Given the description of an element on the screen output the (x, y) to click on. 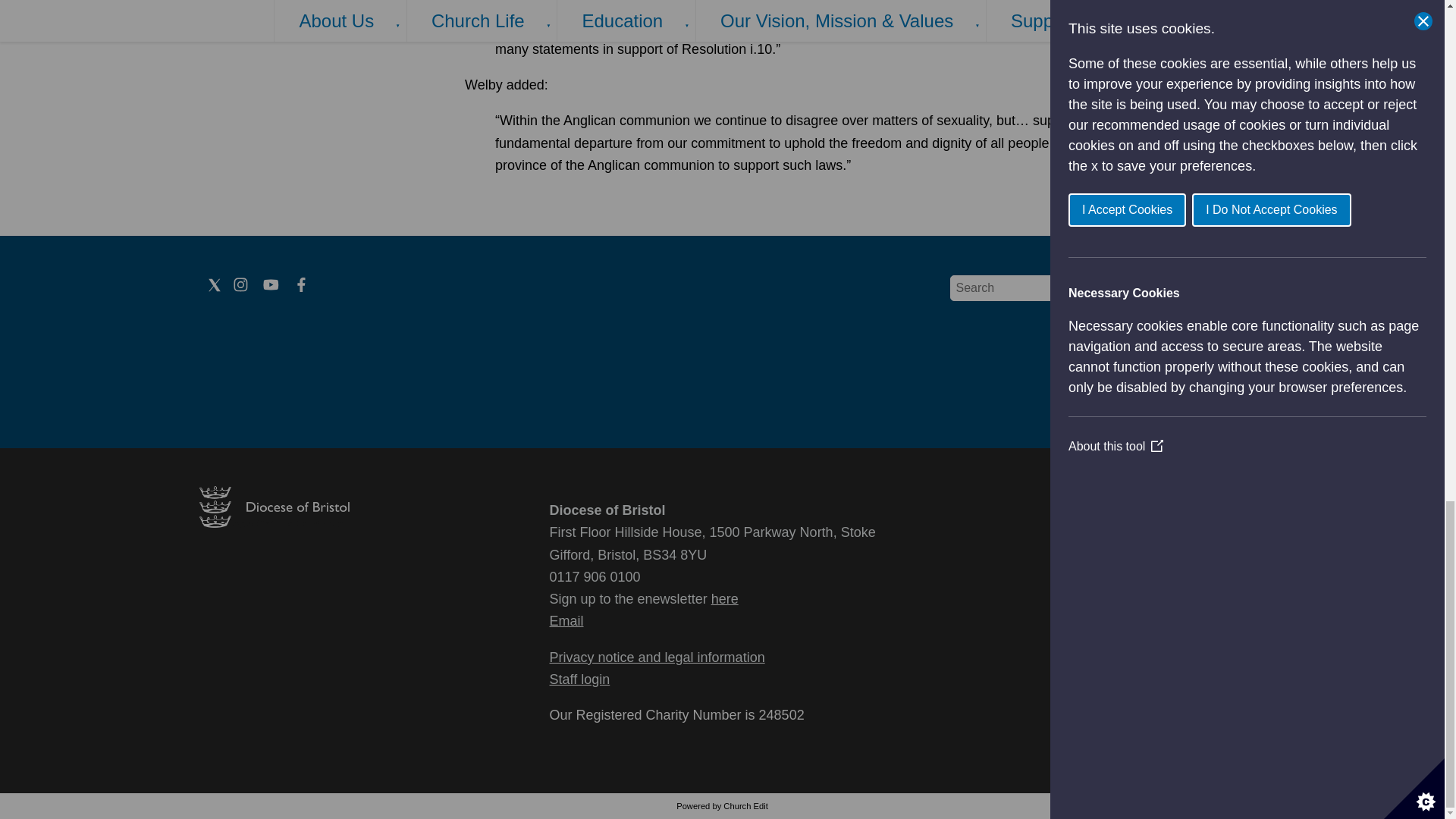
Diocese of Bristol Logo (273, 522)
